Given the description of an element on the screen output the (x, y) to click on. 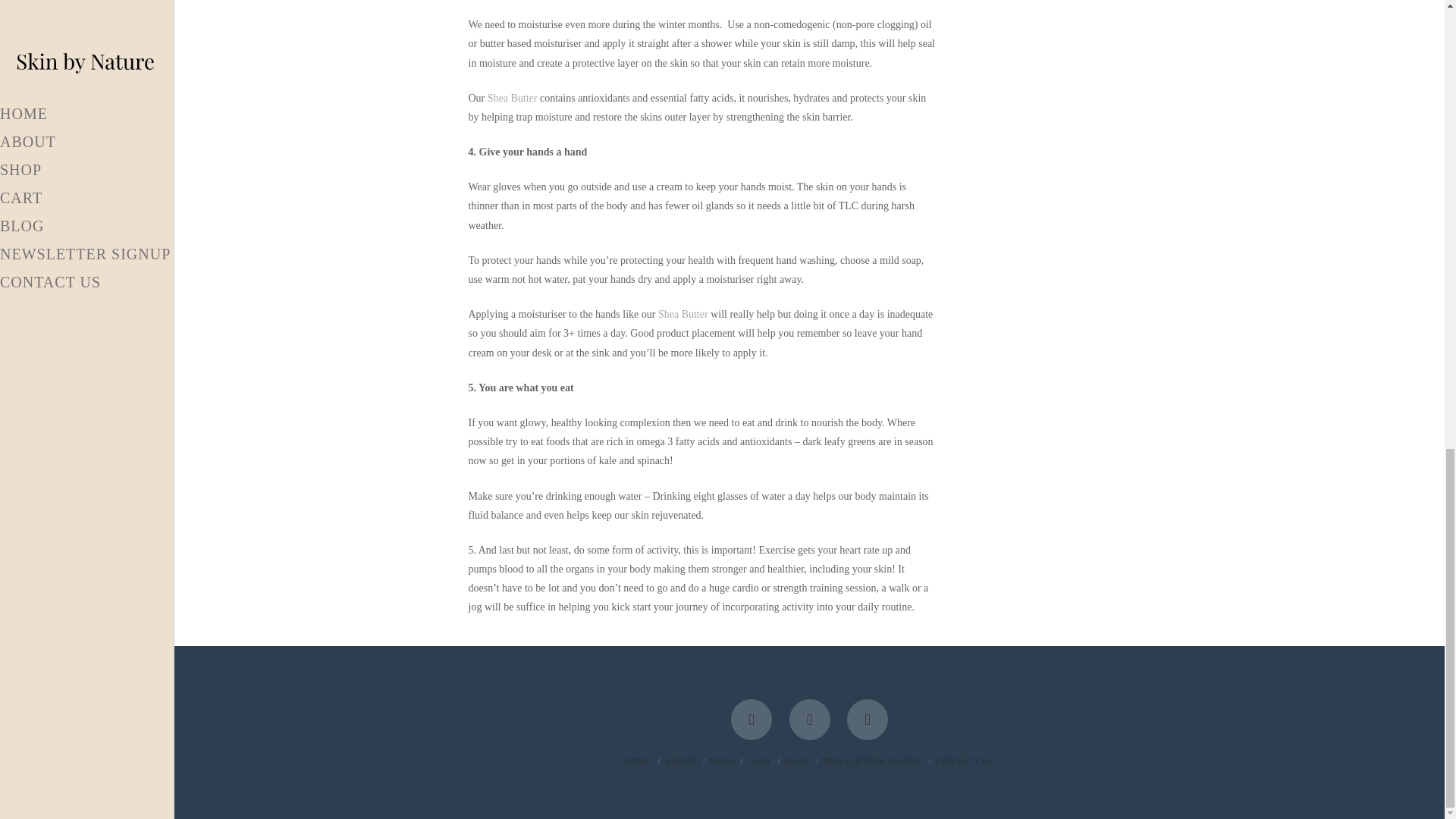
HOME (637, 759)
CART (758, 759)
ABOUT (681, 759)
Shea Butter (512, 98)
Whatsapp (867, 719)
Instagram (809, 719)
SHOP (721, 759)
Facebook (750, 719)
Shea Butter (682, 314)
